Given the description of an element on the screen output the (x, y) to click on. 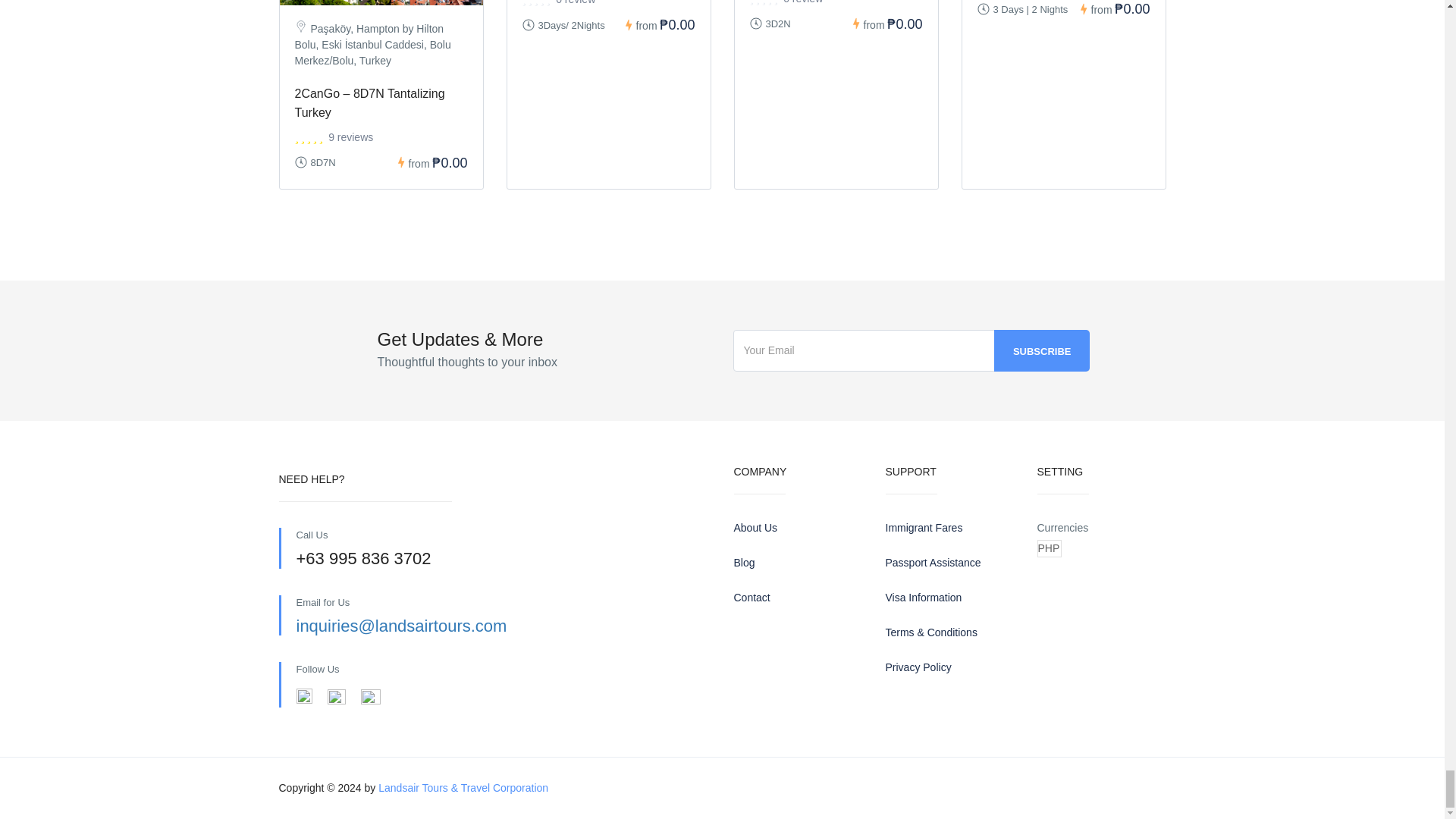
Subscribe (1042, 350)
